Given the description of an element on the screen output the (x, y) to click on. 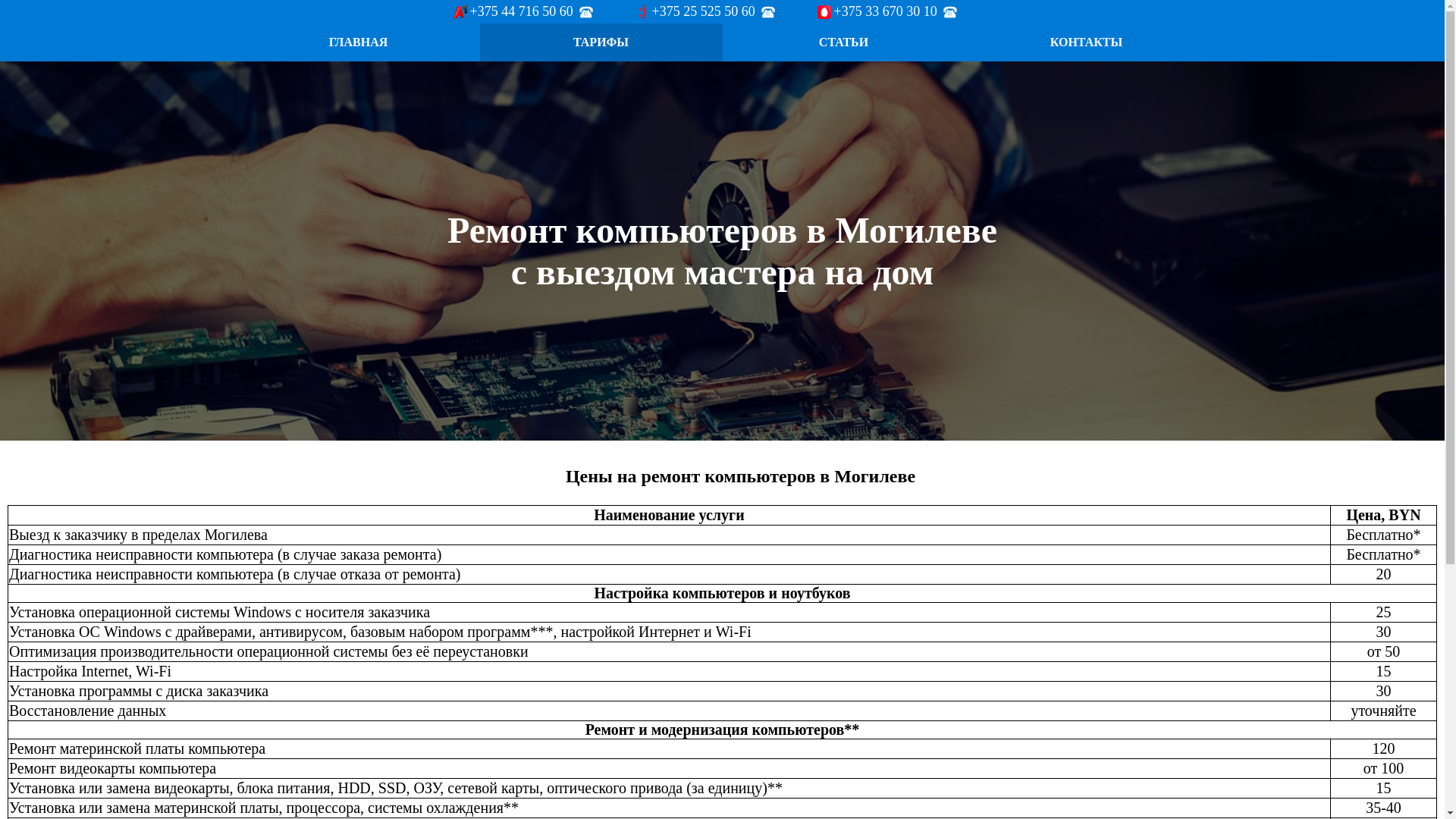
+375 25 525 50 60 Element type: text (705, 11)
+375 44 716 50 60 Element type: text (523, 11)
+375 33 670 30 10 Element type: text (887, 11)
